Given the description of an element on the screen output the (x, y) to click on. 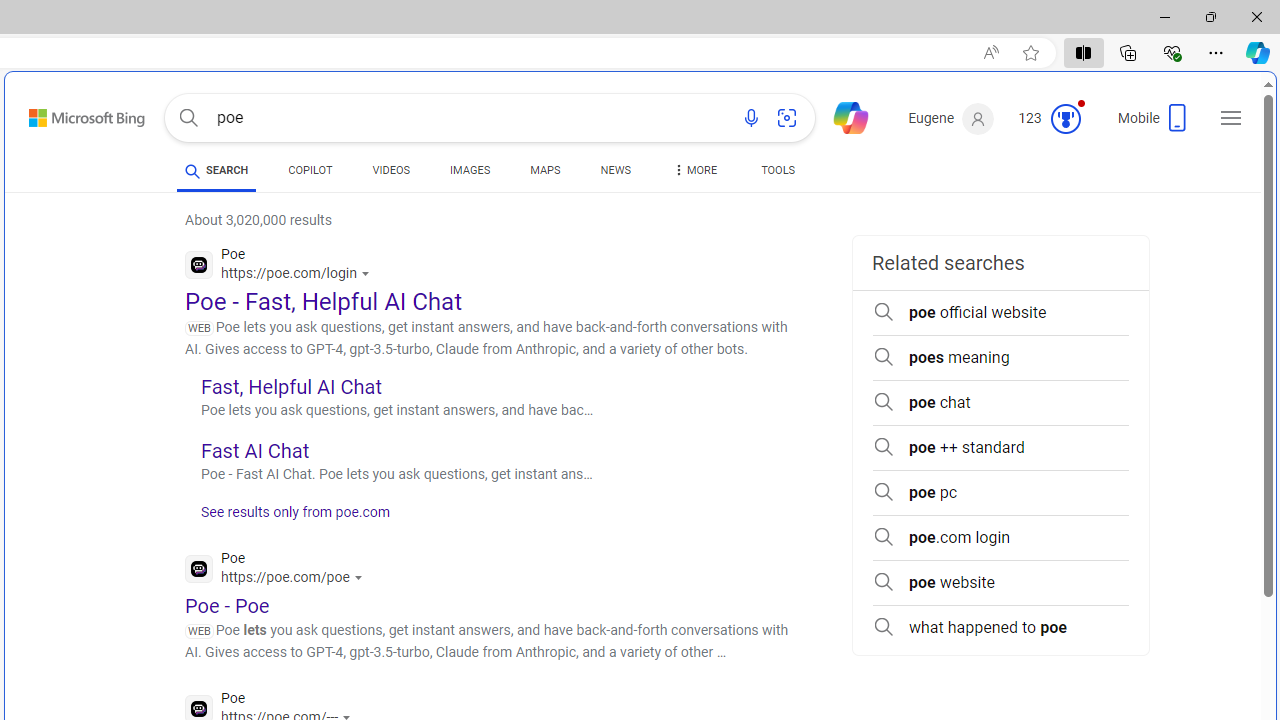
COPILOT (310, 170)
NEWS (614, 173)
Actions for this site (360, 577)
Back to Bing search (74, 113)
Search using an image (787, 117)
SEARCH (216, 170)
TOOLS (777, 170)
Poe - Poe (227, 605)
Microsoft Rewards 123 (1052, 119)
IMAGES (470, 173)
Fast AI Chat (254, 449)
Settings and quick links (1231, 117)
